Given the description of an element on the screen output the (x, y) to click on. 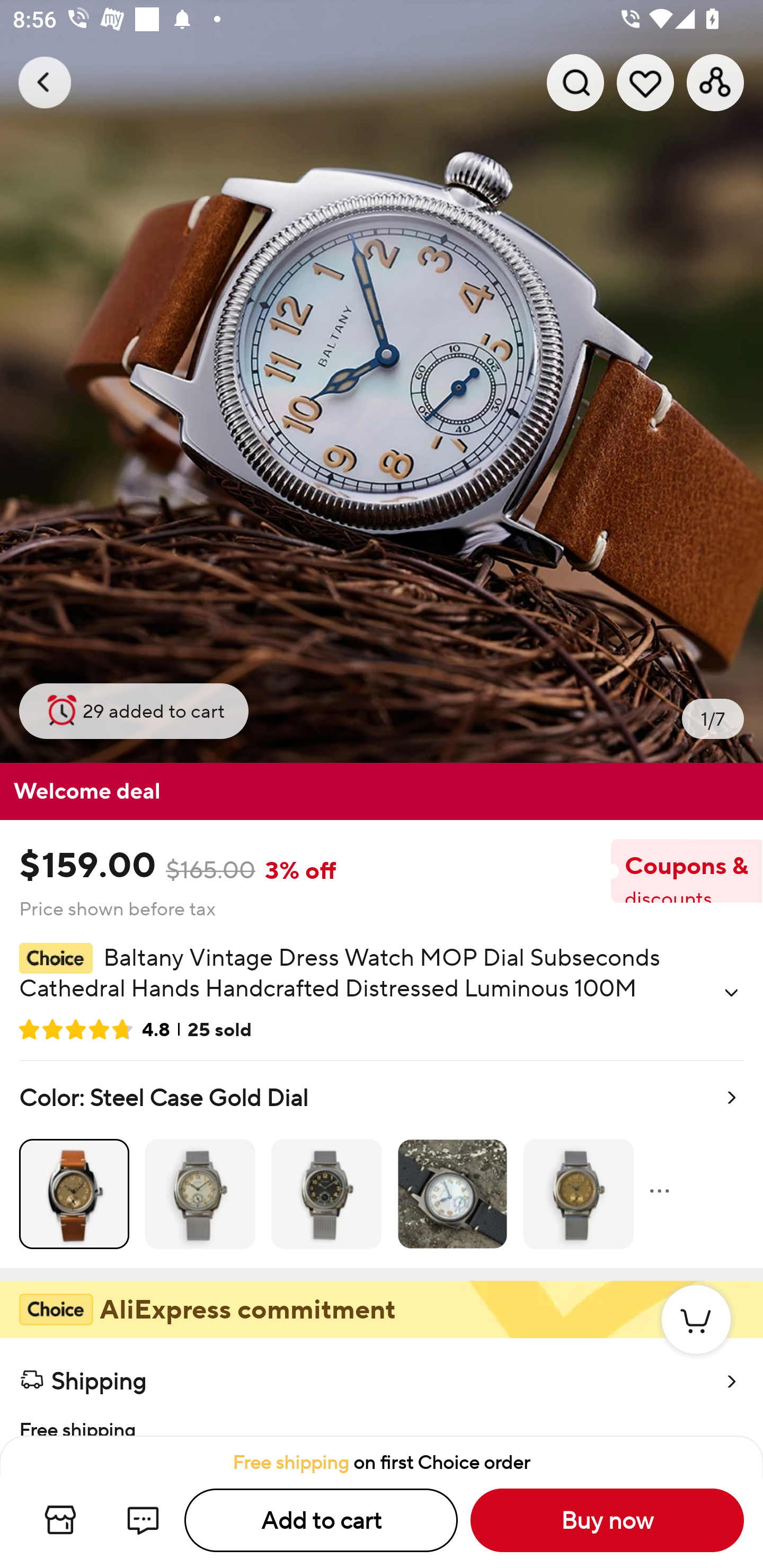
Navigate up (44, 82)
 (730, 992)
Color: Steel Case Gold Dial  (381, 1164)
Shipping  Free shipping  (381, 1386)
Add to cart (320, 1520)
Buy now (606, 1520)
